Given the description of an element on the screen output the (x, y) to click on. 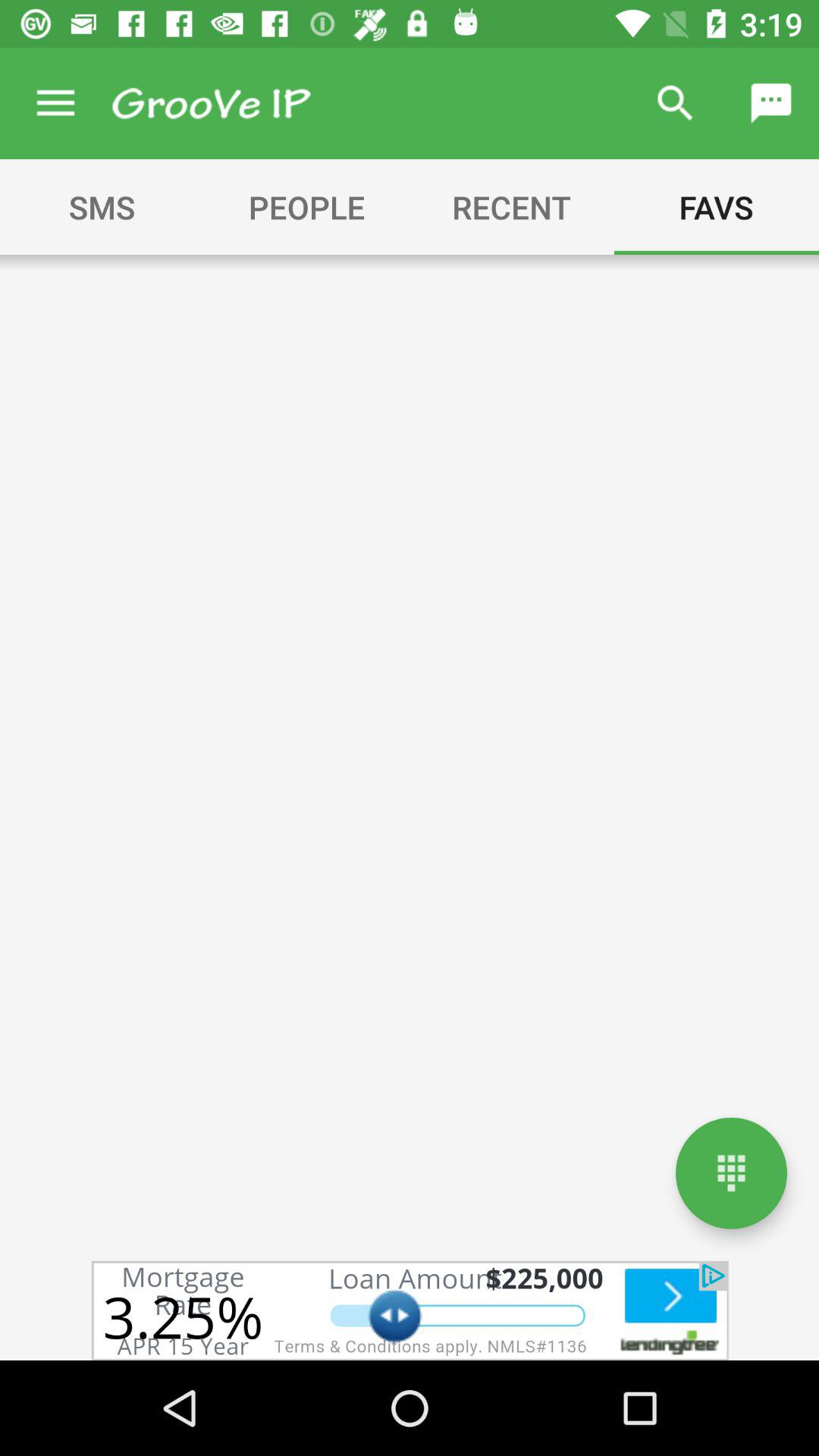
click advertisement (409, 1310)
